Given the description of an element on the screen output the (x, y) to click on. 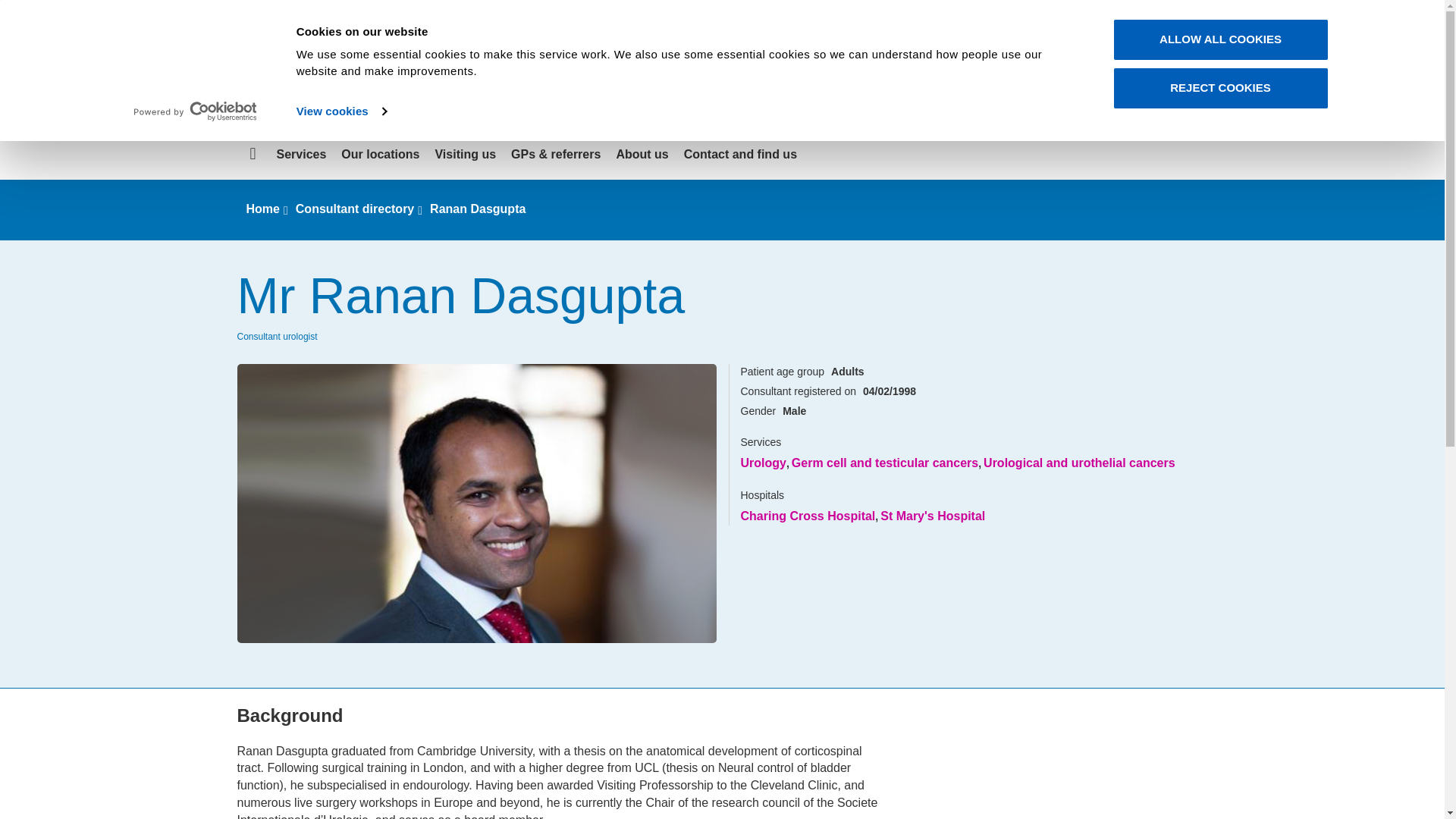
View cookies (342, 110)
